Given the description of an element on the screen output the (x, y) to click on. 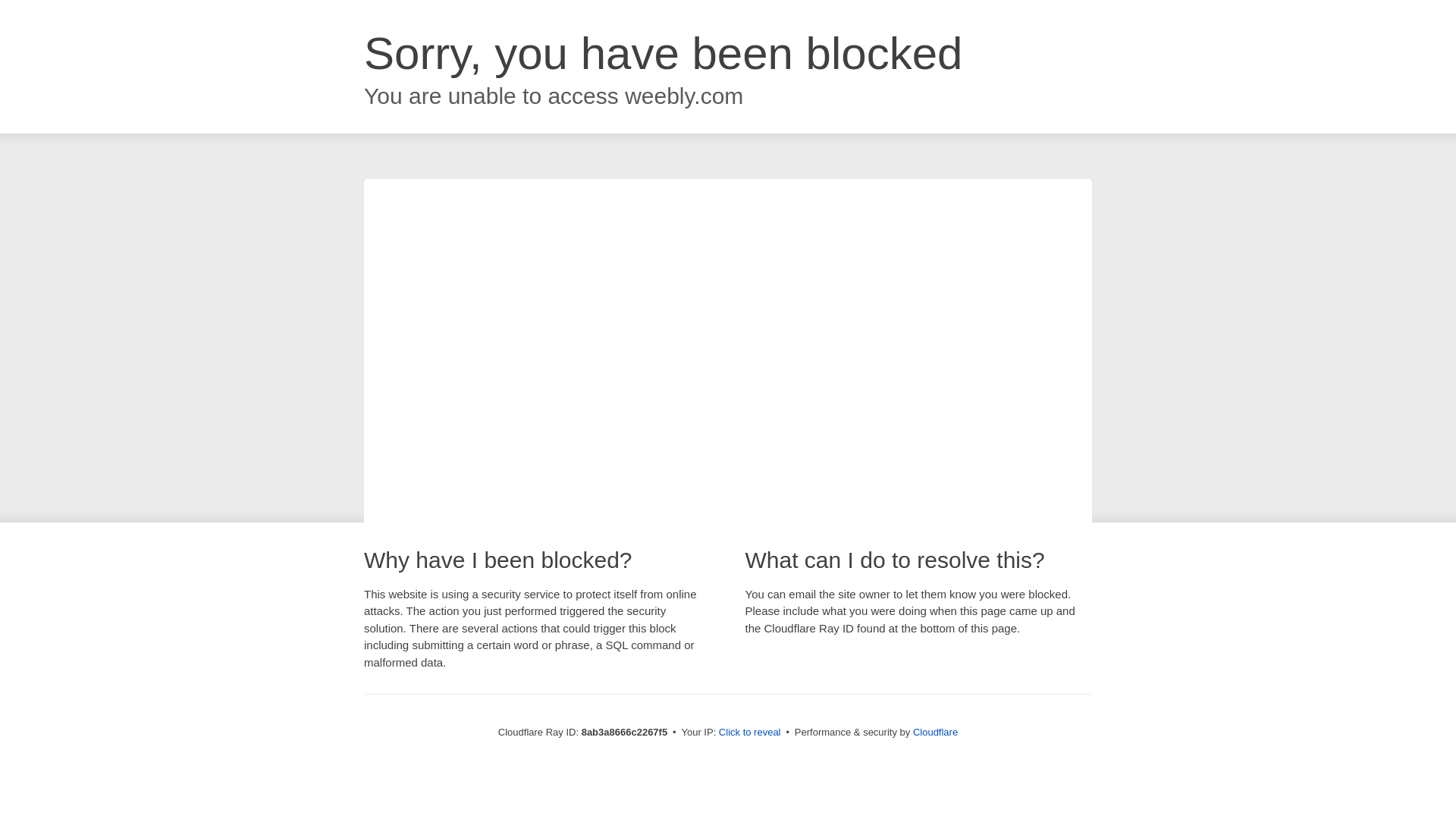
Cloudflare (935, 731)
Click to reveal (749, 732)
